Given the description of an element on the screen output the (x, y) to click on. 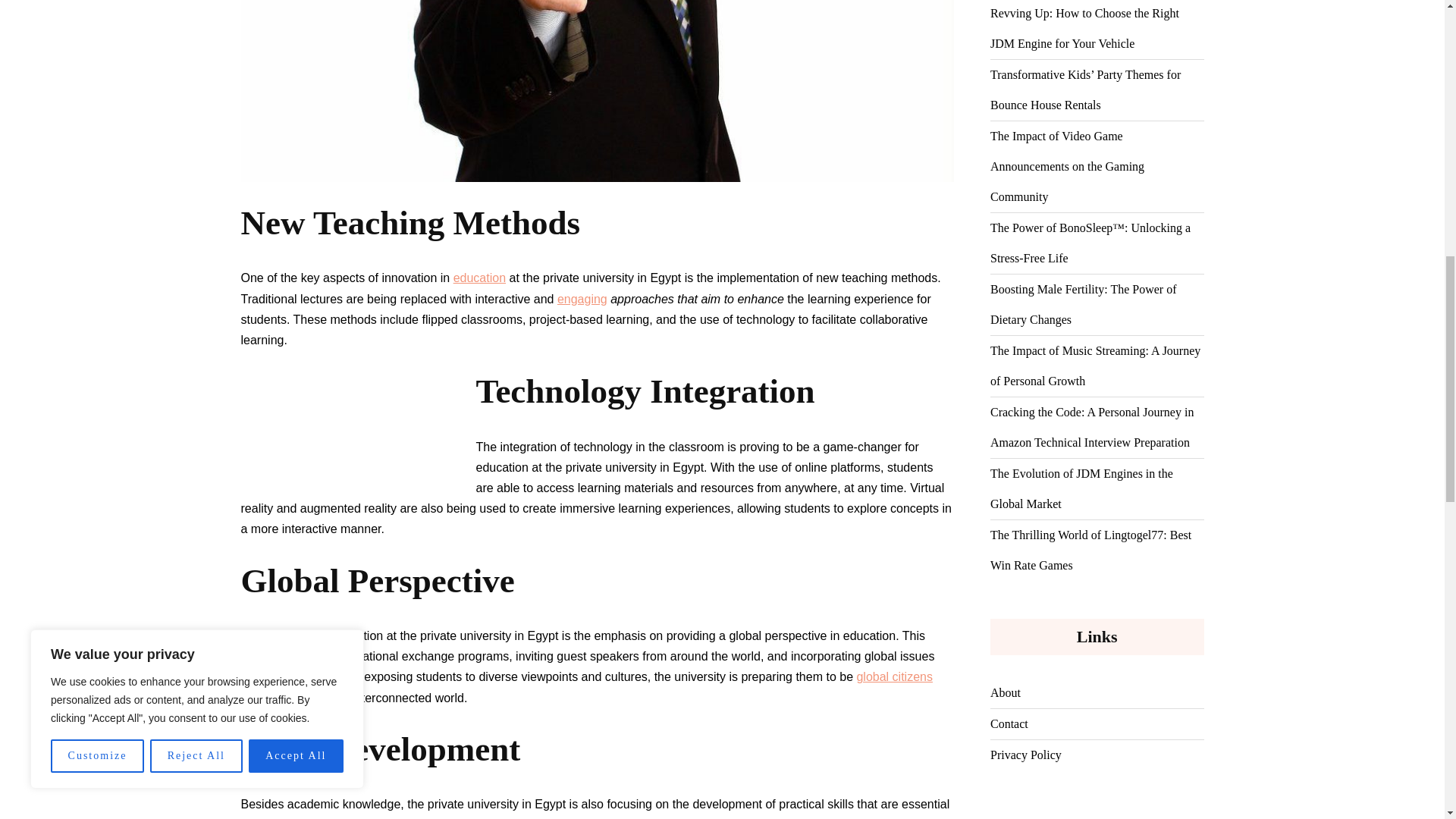
engaging (582, 298)
education (478, 277)
global citizens (894, 676)
